Given the description of an element on the screen output the (x, y) to click on. 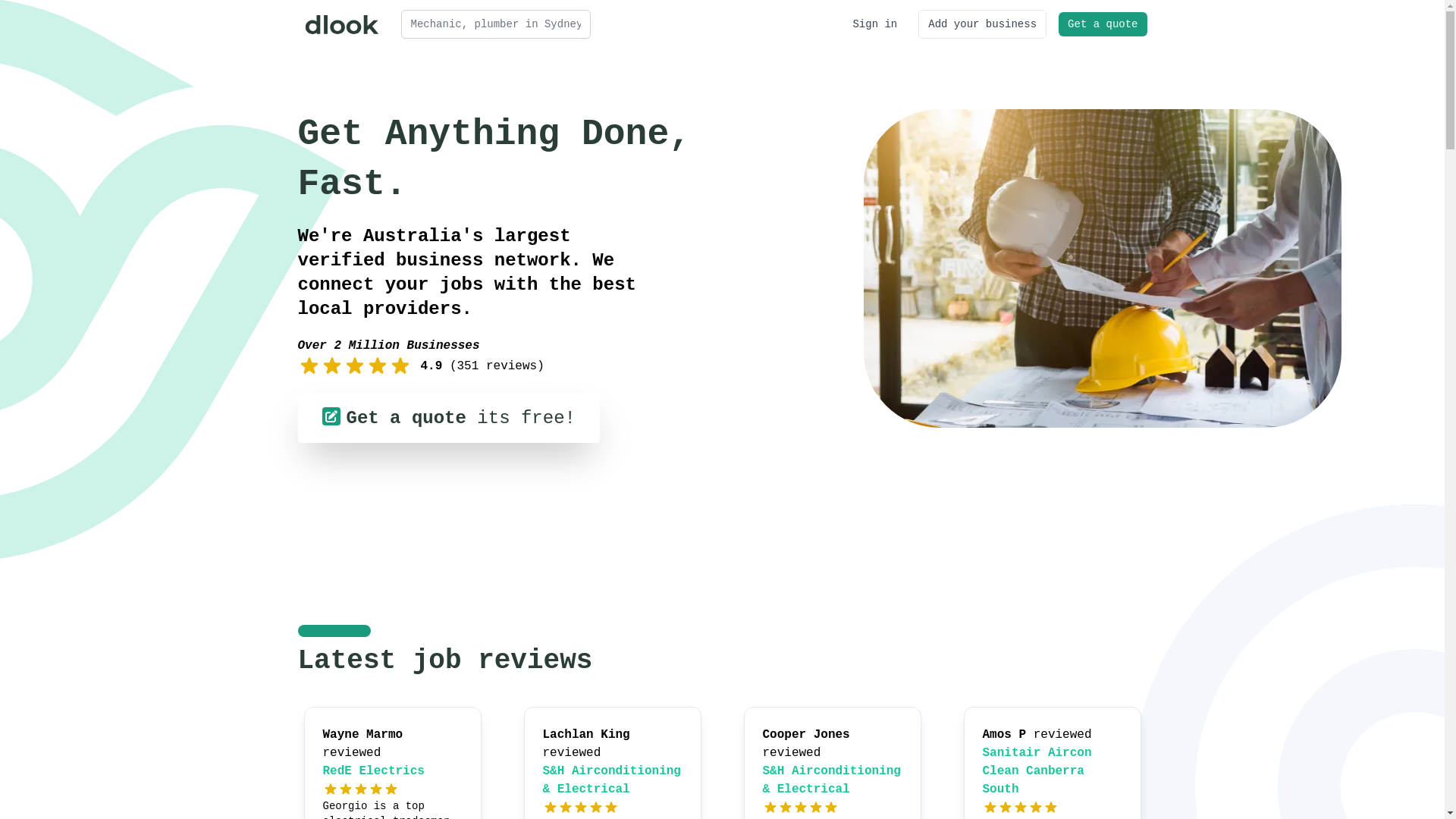
Get a quote its free! Element type: text (448, 417)
Sign in Element type: text (874, 23)
Add your business Element type: text (982, 23)
Sanitair Aircon Clean Canberra South Element type: text (1037, 771)
S&H Airconditioning & Electrical Element type: text (611, 780)
RedE Electrics Element type: text (373, 771)
S&H Airconditioning & Electrical Element type: text (831, 780)
Get a quote Element type: text (1102, 24)
